Given the description of an element on the screen output the (x, y) to click on. 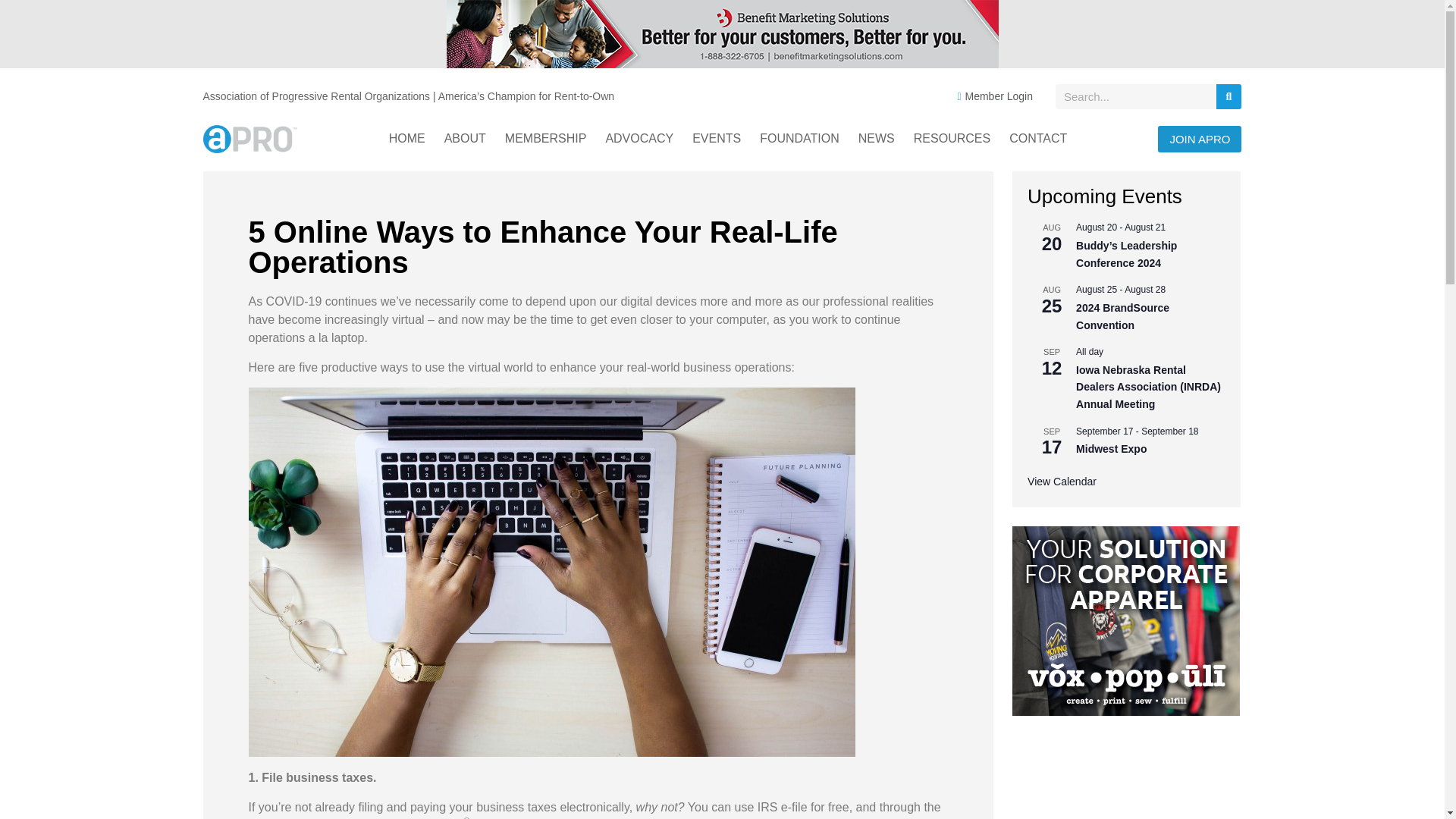
ADVOCACY (638, 138)
FOUNDATION (799, 138)
MEMBERSHIP (545, 138)
NEWS (876, 138)
HOME (407, 138)
EVENTS (716, 138)
ABOUT (464, 138)
Member Login (989, 96)
